Given the description of an element on the screen output the (x, y) to click on. 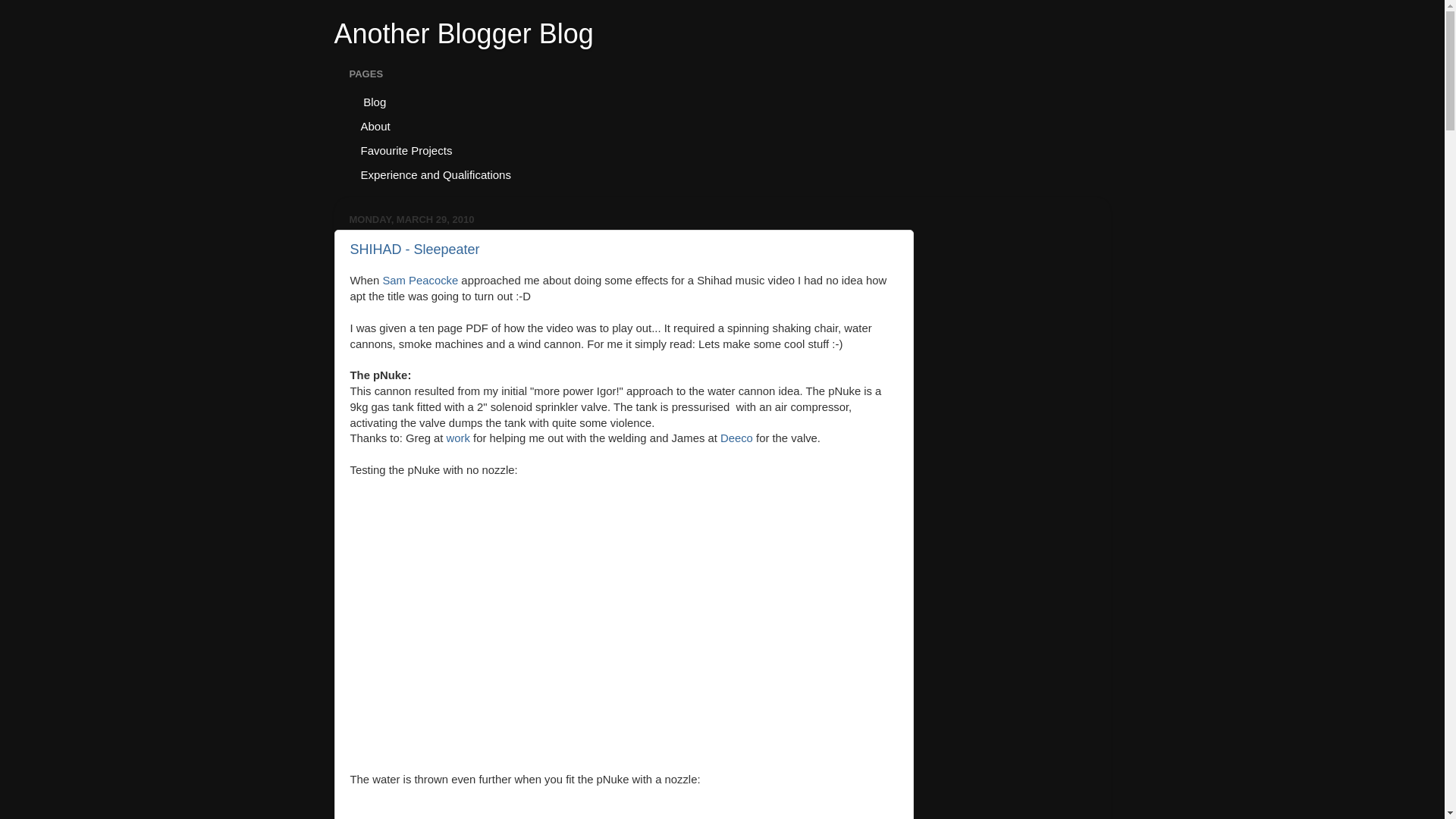
work (458, 438)
Another Blogger Blog (462, 33)
About (375, 126)
SHIHAD - Sleepeater (415, 249)
Deeco (736, 438)
Favourite Projects (406, 150)
Experience and Qualifications (435, 174)
Sam Peacocke (419, 280)
Blog (373, 102)
